Given the description of an element on the screen output the (x, y) to click on. 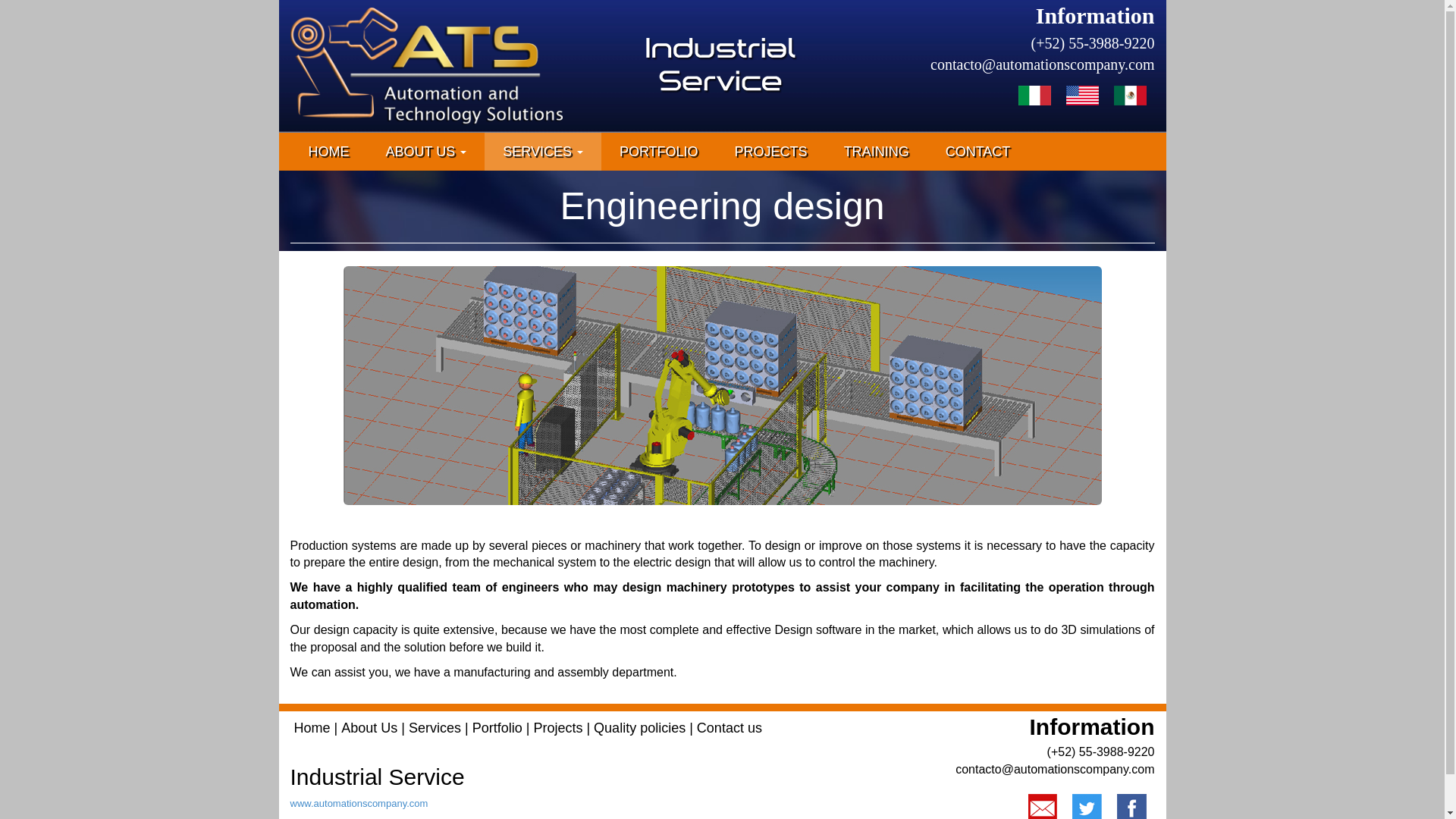
Spanish (1130, 94)
Portfolio (496, 728)
Contact us (729, 728)
Italian (1034, 94)
English (1082, 94)
Services (435, 728)
TRAINING (876, 151)
www.automationscompany.com (358, 803)
ABOUT US (425, 151)
Quality policies (639, 728)
PROJECTS (770, 151)
SERVICES (542, 151)
HOME (327, 151)
Projects (557, 728)
Home (312, 728)
